Given the description of an element on the screen output the (x, y) to click on. 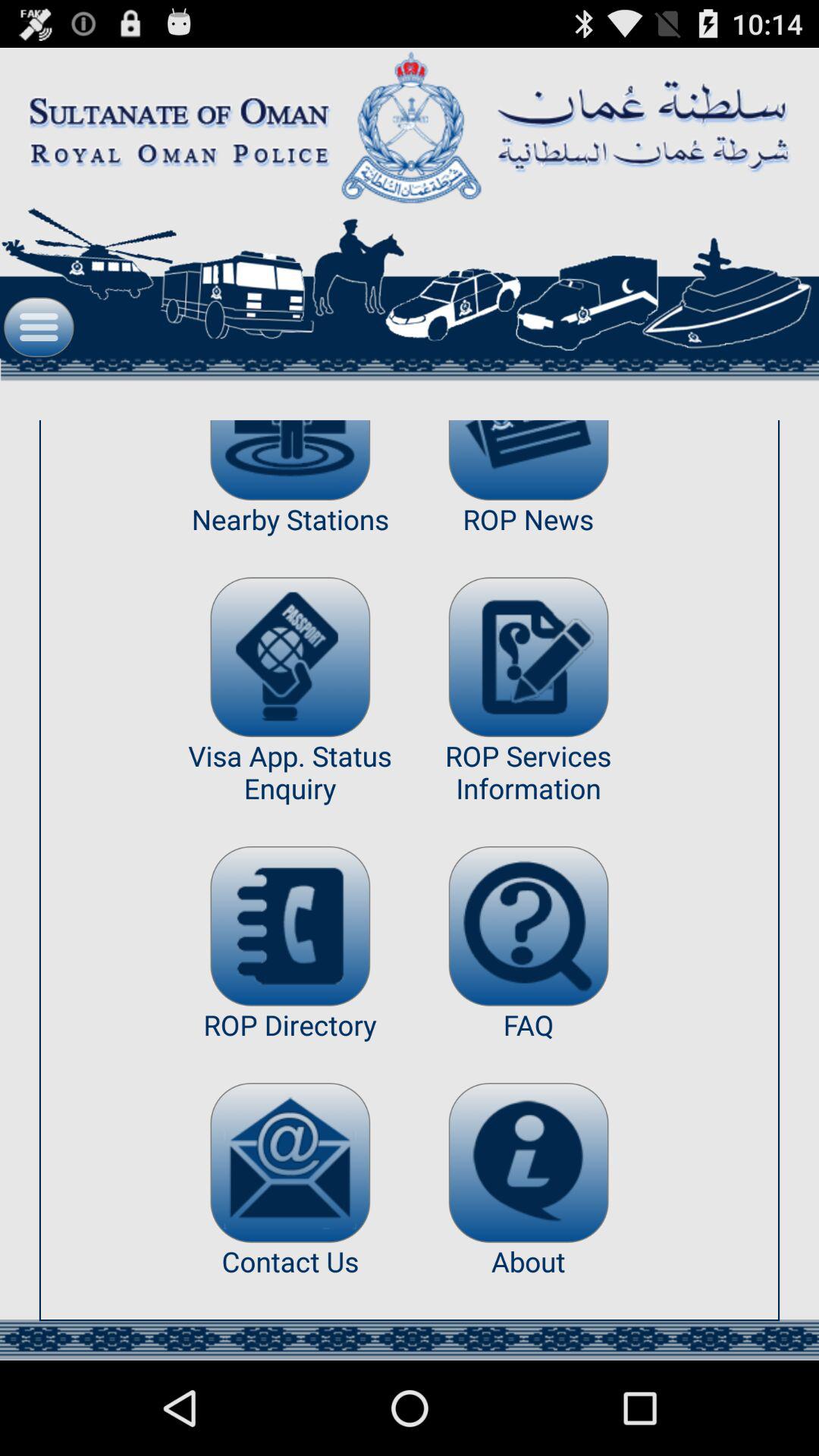
rop services (528, 657)
